Given the description of an element on the screen output the (x, y) to click on. 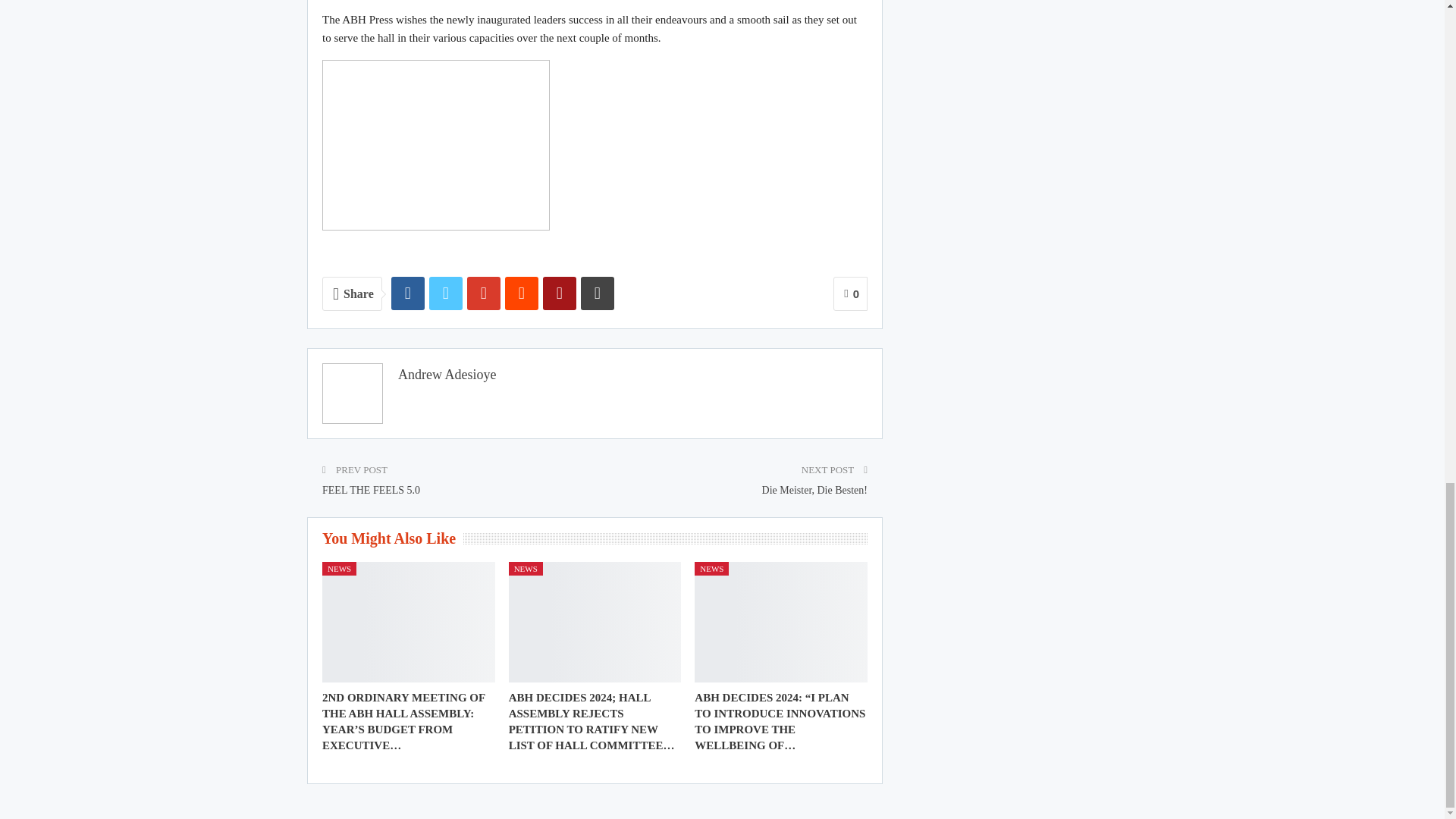
0 (849, 293)
NEWS (525, 568)
FEEL THE FEELS 5.0 (370, 490)
NEWS (338, 568)
You Might Also Like (392, 539)
Die Meister, Die Besten! (814, 490)
Andrew Adesioye (446, 374)
